Given the description of an element on the screen output the (x, y) to click on. 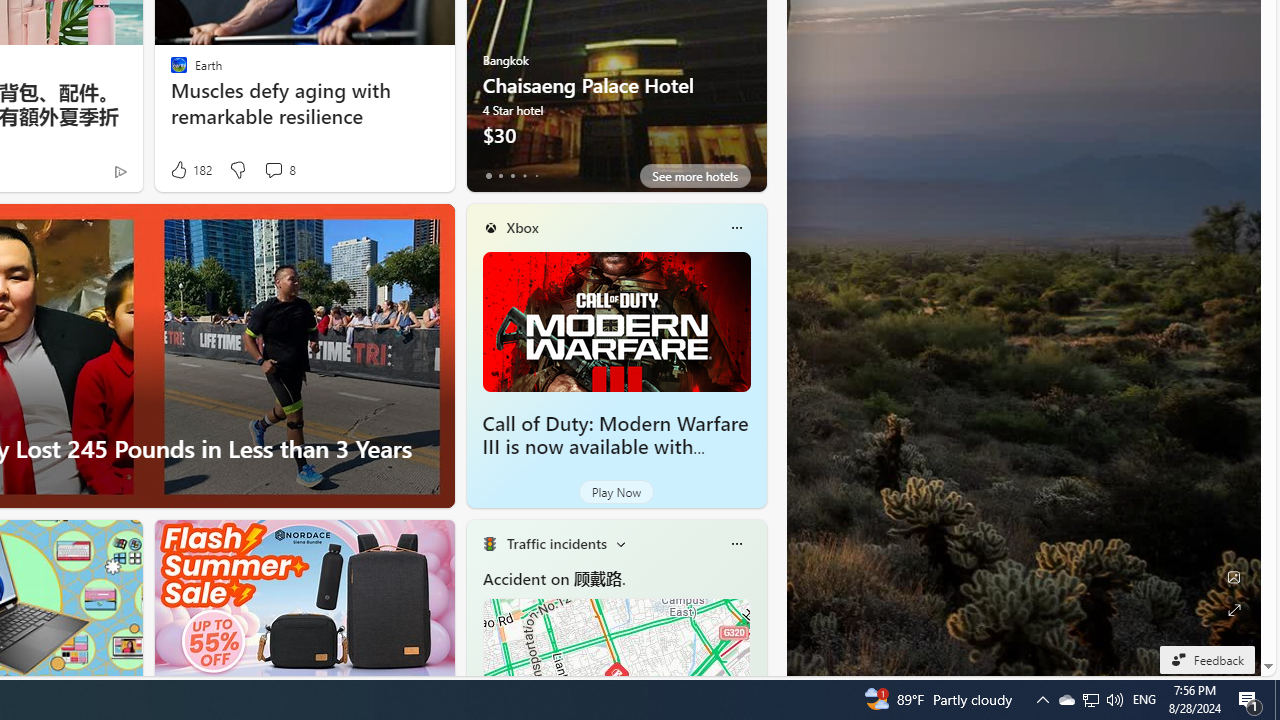
Expand background (1233, 610)
tab-0 (488, 175)
tab-4 (535, 175)
See more hotels (694, 175)
Edit Background (1233, 577)
Xbox (521, 227)
182 Like (190, 170)
